Given the description of an element on the screen output the (x, y) to click on. 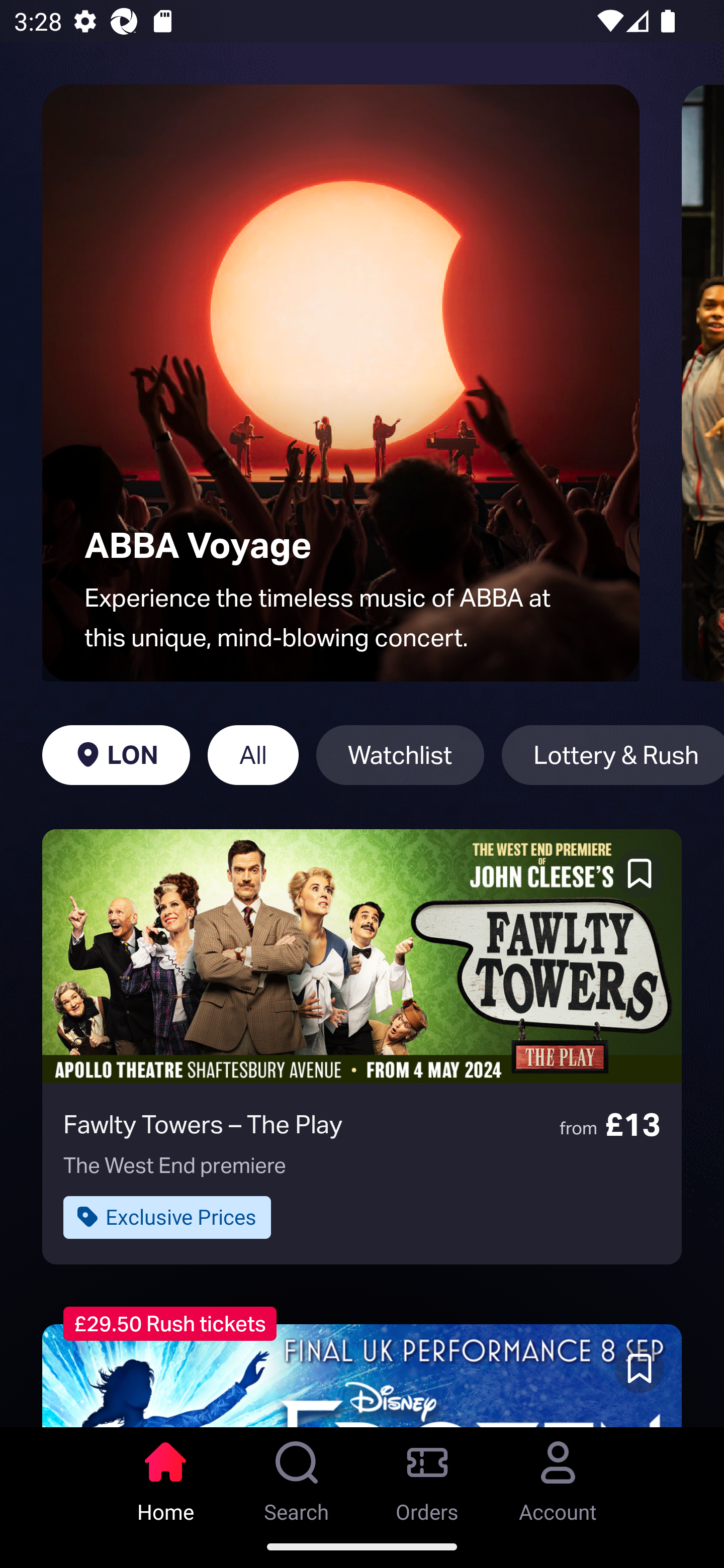
LON (115, 754)
All (252, 754)
Watchlist (400, 754)
Lottery & Rush (612, 754)
Search (296, 1475)
Orders (427, 1475)
Account (558, 1475)
